Given the description of an element on the screen output the (x, y) to click on. 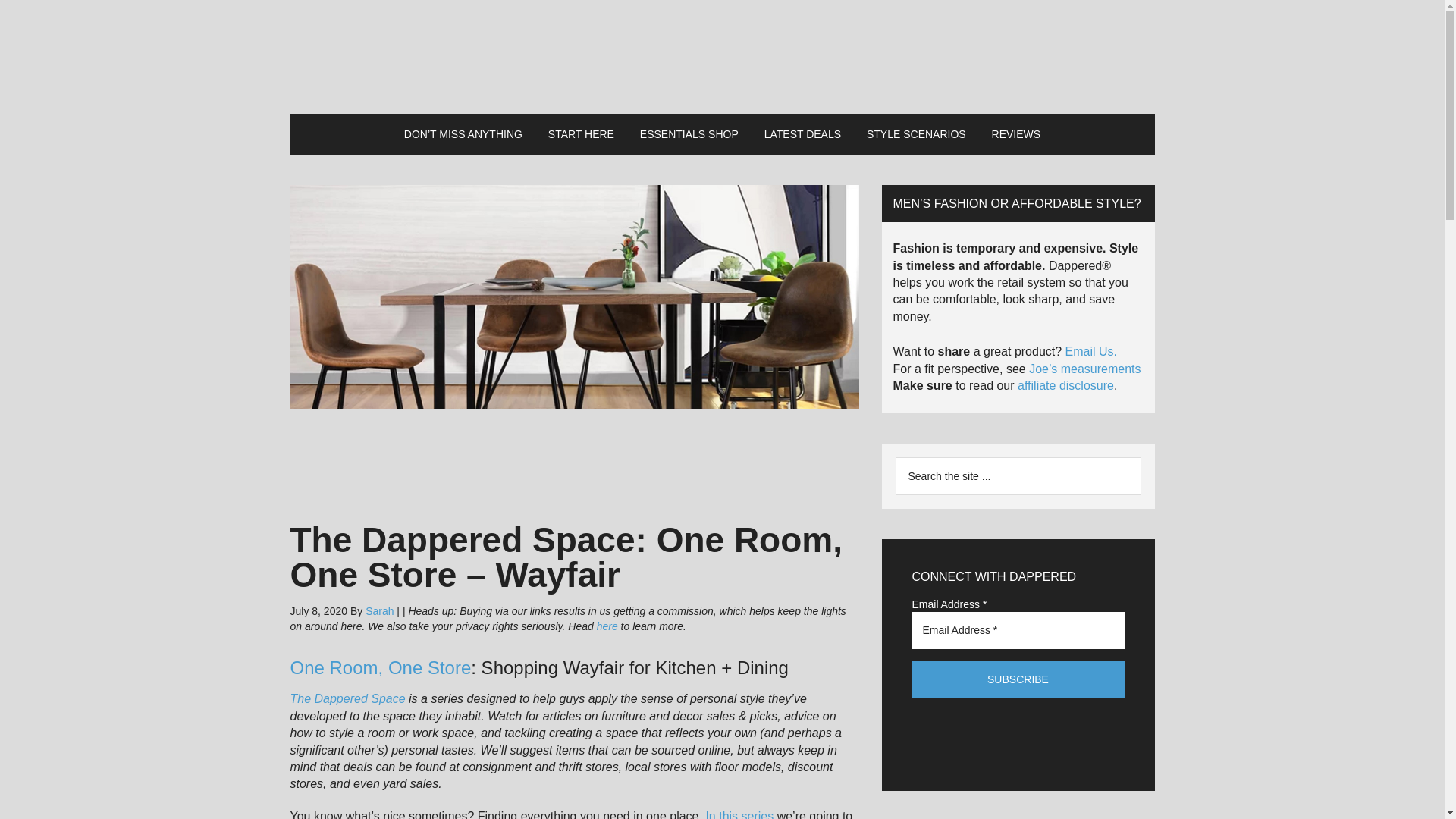
Dappered (721, 56)
The Dappered Space (346, 698)
here (606, 625)
STYLE SCENARIOS (916, 133)
Subscribe (1017, 679)
REVIEWS (1015, 133)
Sarah (379, 611)
ESSENTIALS SHOP (688, 133)
LATEST DEALS (801, 133)
START HERE (581, 133)
One Room, One Store (379, 667)
In this series (738, 814)
